Given the description of an element on the screen output the (x, y) to click on. 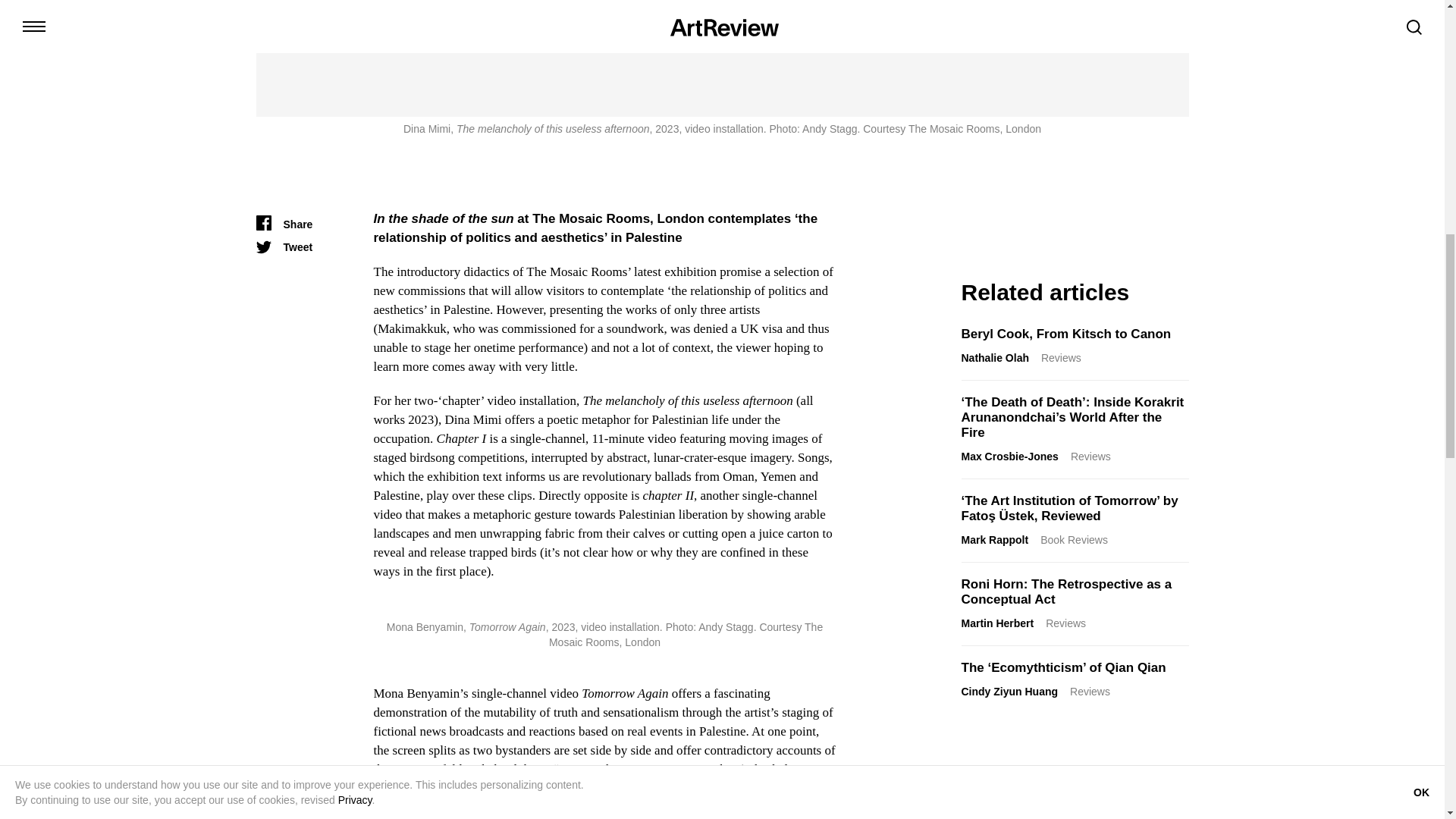
Beryl Cook, From Kitsch to Canon (1066, 332)
Tweet (284, 246)
Share (284, 223)
Nathalie Olah (994, 357)
Reviews (1061, 357)
